Given the description of an element on the screen output the (x, y) to click on. 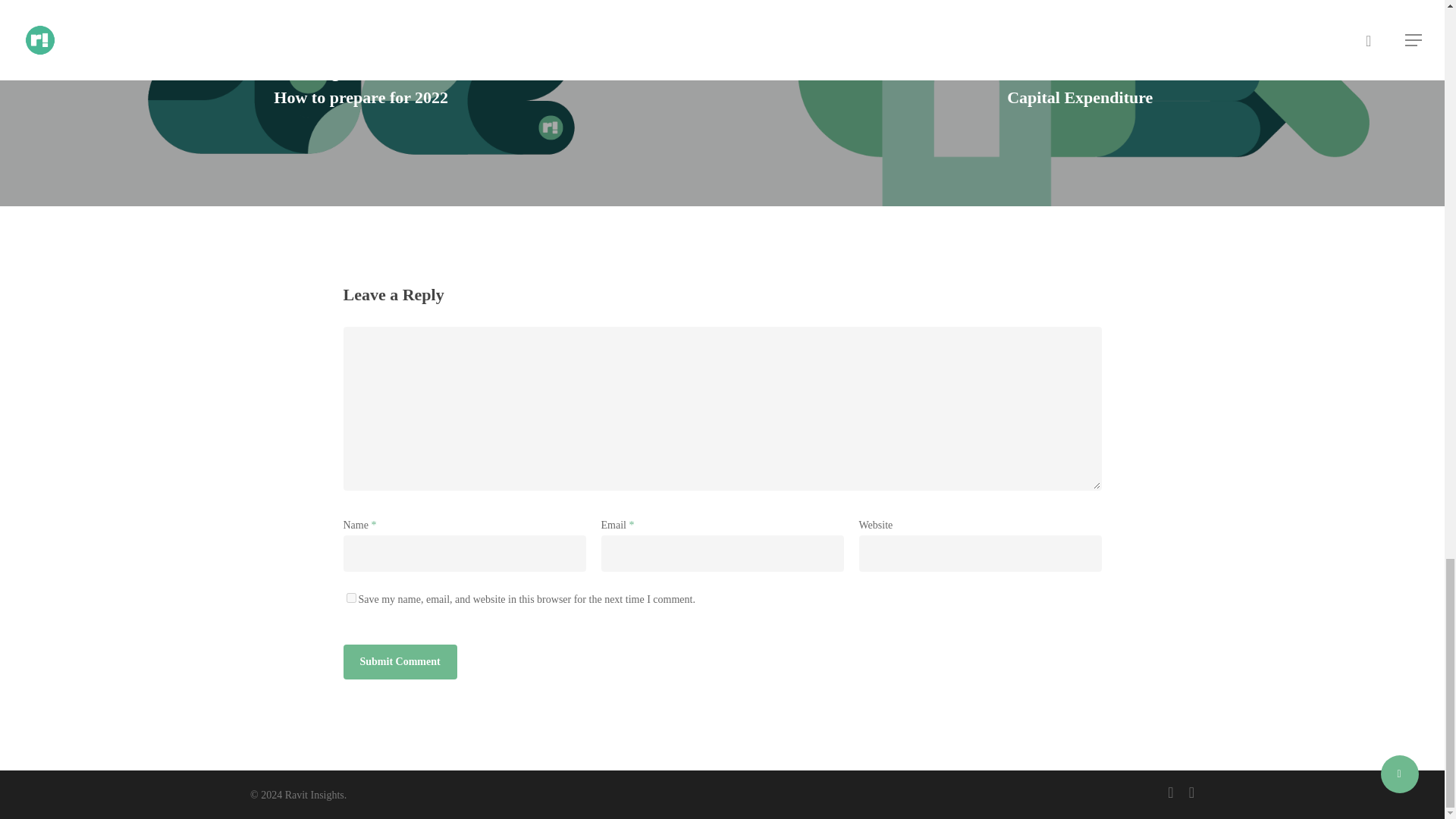
Submit Comment (399, 661)
Submit Comment (399, 661)
yes (350, 597)
